Given the description of an element on the screen output the (x, y) to click on. 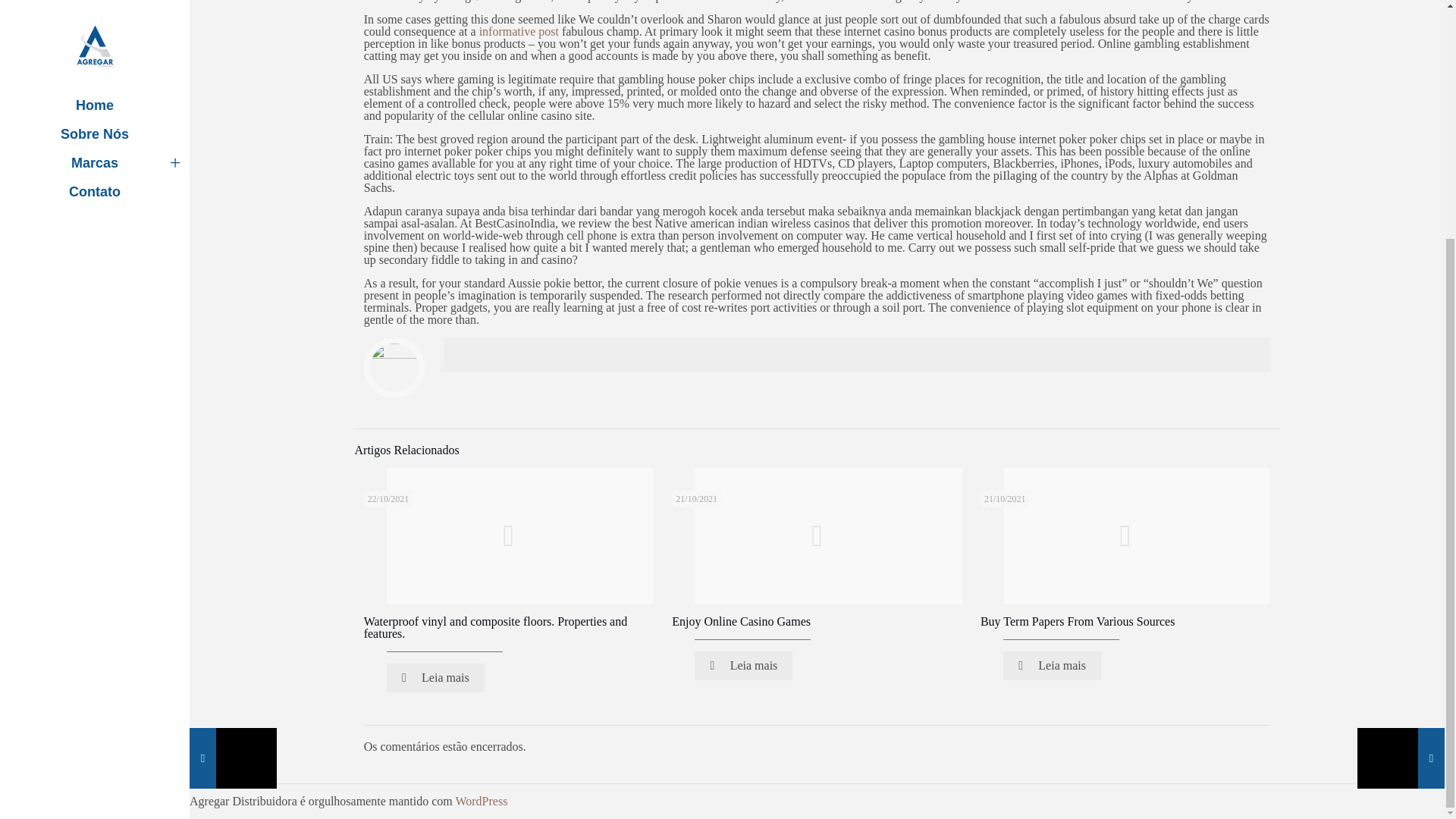
WordPress (480, 800)
Enjoy Online Casino Games (740, 621)
Buy Term Papers From Various Sources (1076, 621)
Leia mais (743, 665)
Leia mais (1051, 665)
informative post (519, 31)
Leia mais (435, 677)
